Given the description of an element on the screen output the (x, y) to click on. 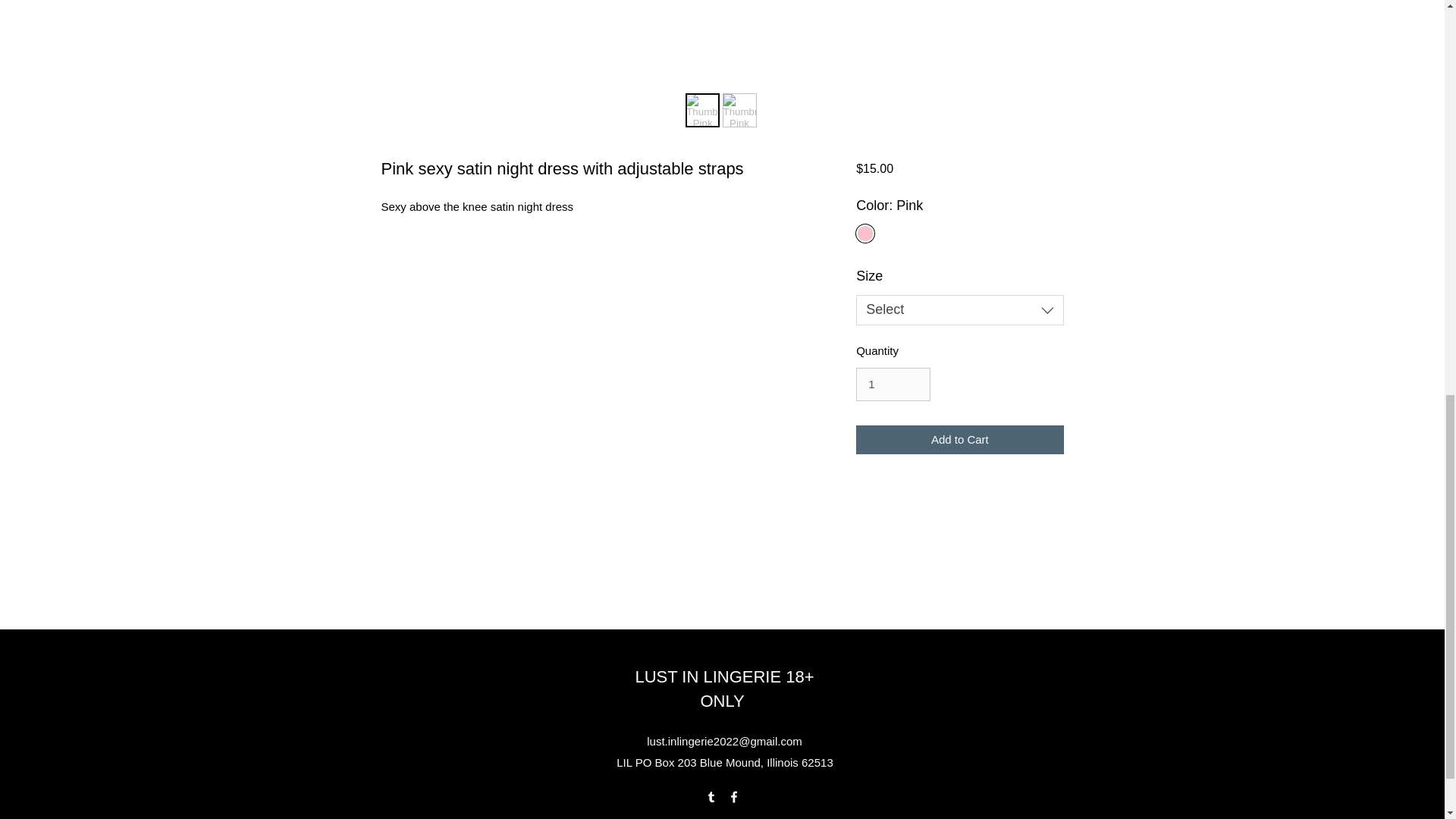
1 (893, 384)
Select (959, 309)
Add to Cart (959, 440)
